Given the description of an element on the screen output the (x, y) to click on. 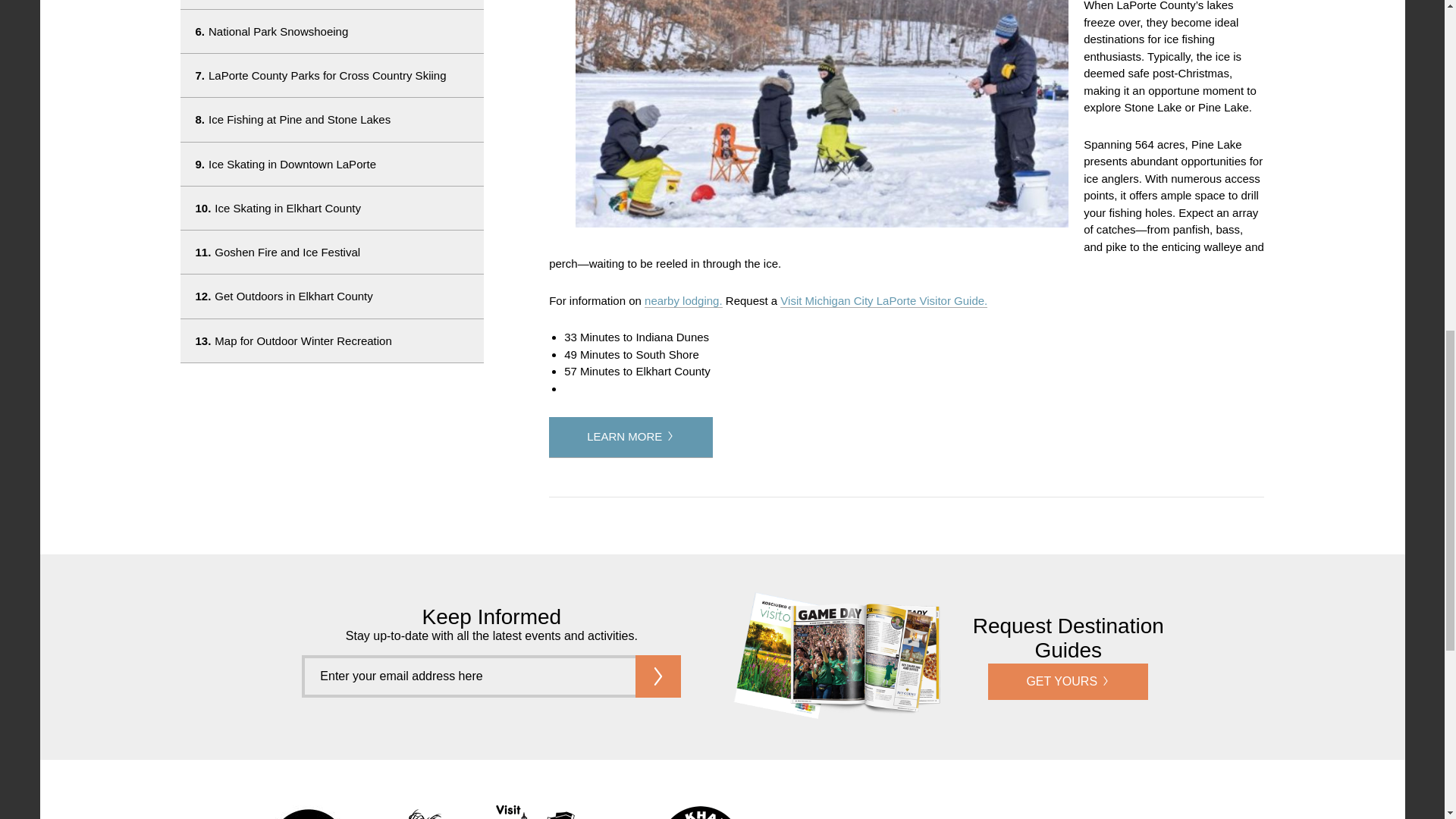
LaPorte County Parks for Cross Country Skiing (331, 75)
Ice Fishing at Pine and Stone Lakes (331, 118)
Enter your email address here (467, 676)
Goshen Fire and Ice Festival (331, 251)
Ice Skating in Downtown LaPorte (331, 163)
Get Outdoors in Elkhart County (331, 295)
Indiana Dunes (423, 812)
National Park Snowshoeing (331, 31)
Sledding in the Indiana Dunes Area (331, 4)
Ice Skating in Elkhart County (331, 208)
Map for Outdoor Winter Recreation (331, 340)
Visit Michigan City LaPorte (559, 812)
